Given the description of an element on the screen output the (x, y) to click on. 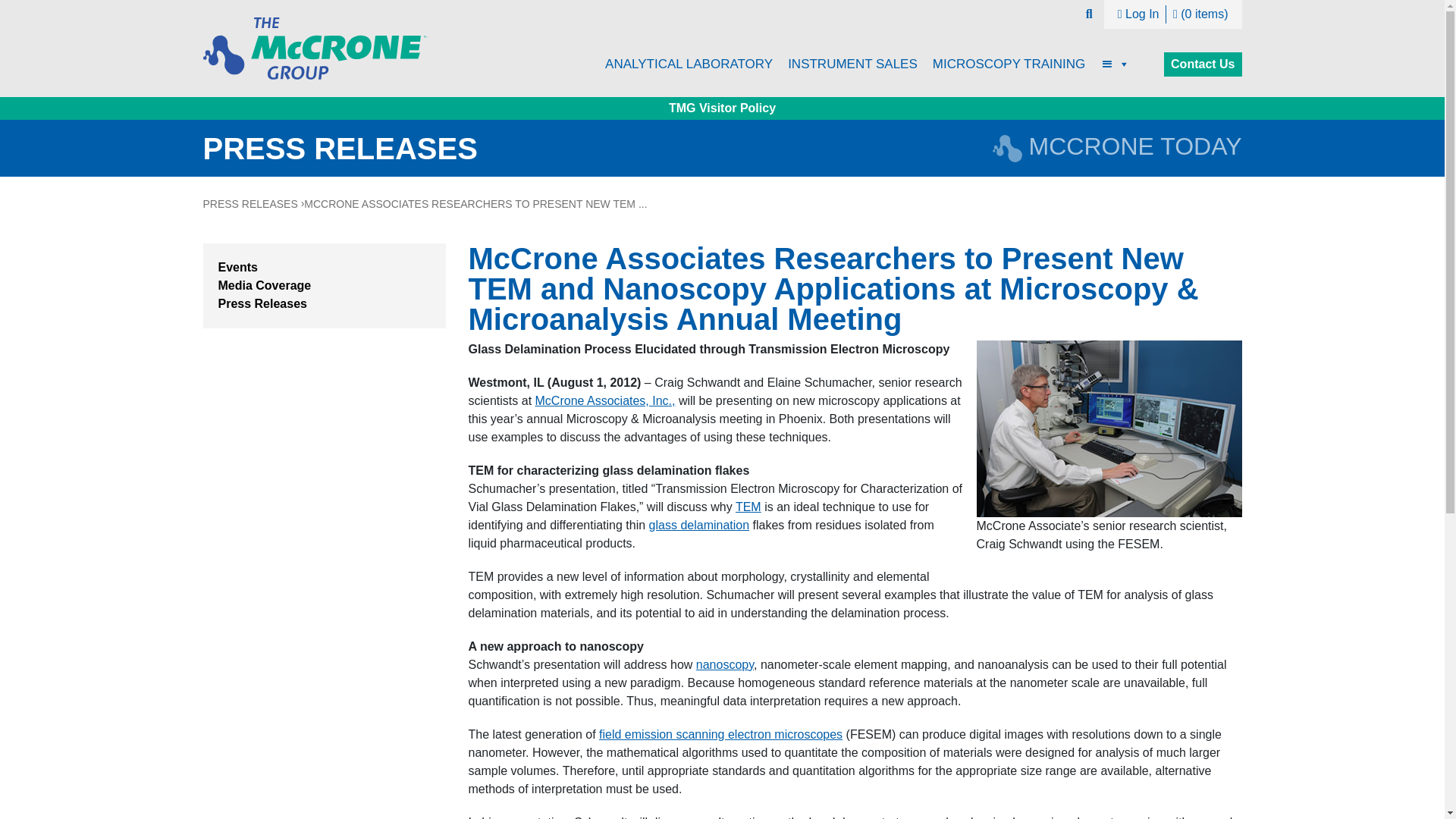
Contact Us (1202, 64)
Events (237, 267)
PRESS RELEASES (250, 203)
PRESS RELEASES (340, 148)
TMG Visitor Policy (722, 107)
INSTRUMENT SALES (852, 64)
ANALYTICAL LABORATORY (688, 64)
Media Coverage (264, 285)
MCCRONE ASSOCIATES RESEARCHERS TO PRESENT NEW TEM ... (475, 203)
Log In (1138, 13)
MCCRONE TODAY (1116, 145)
MICROSCOPY TRAINING (1008, 64)
